Given the description of an element on the screen output the (x, y) to click on. 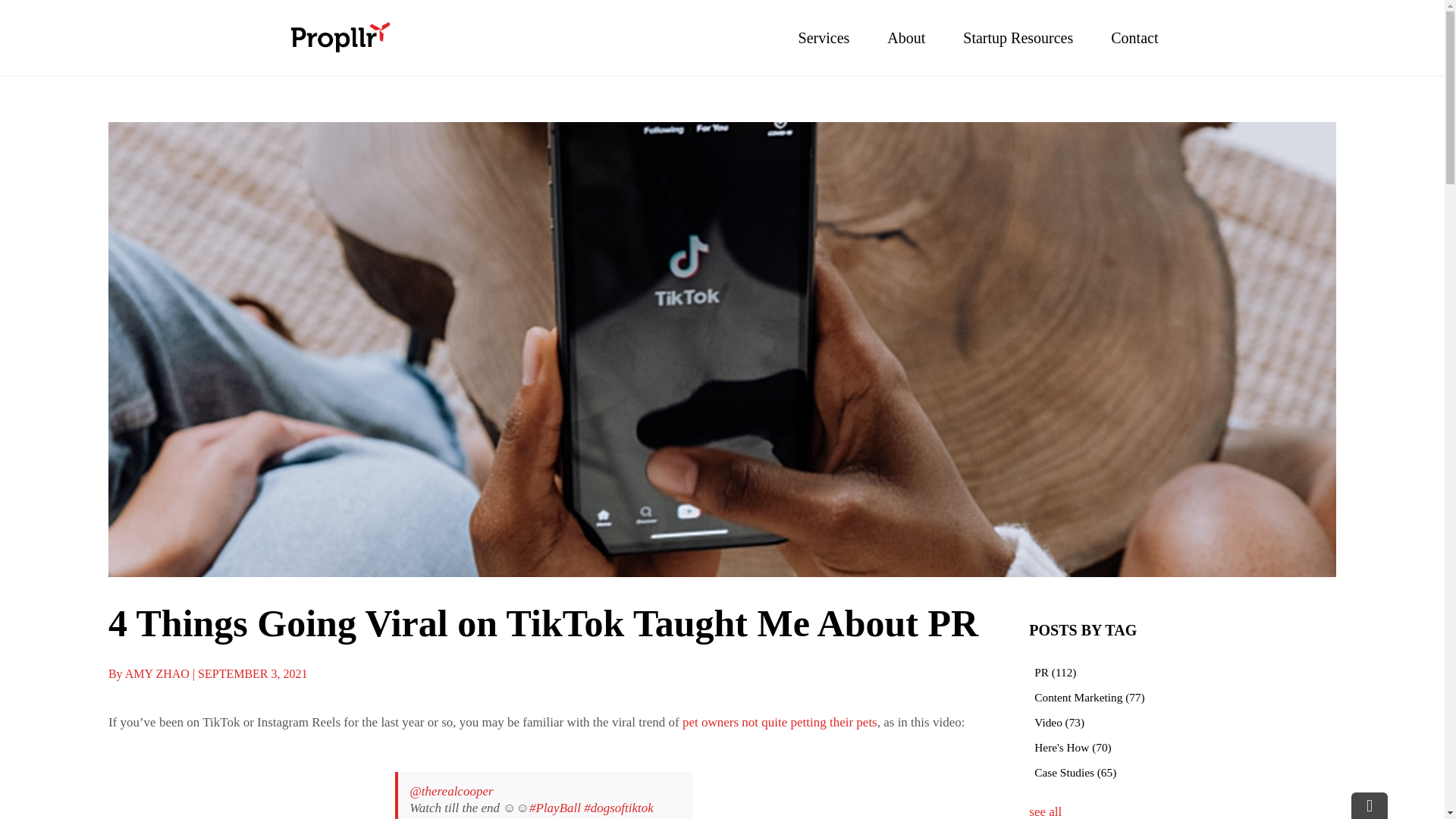
dogsoftiktok (618, 807)
Contact (1134, 38)
davidstesla (441, 818)
About (905, 38)
playball (554, 807)
Services (823, 38)
Propllr (339, 37)
AMY ZHAO (158, 673)
Startup Resources (1017, 38)
pet owners not quite petting their pets (779, 721)
